Given the description of an element on the screen output the (x, y) to click on. 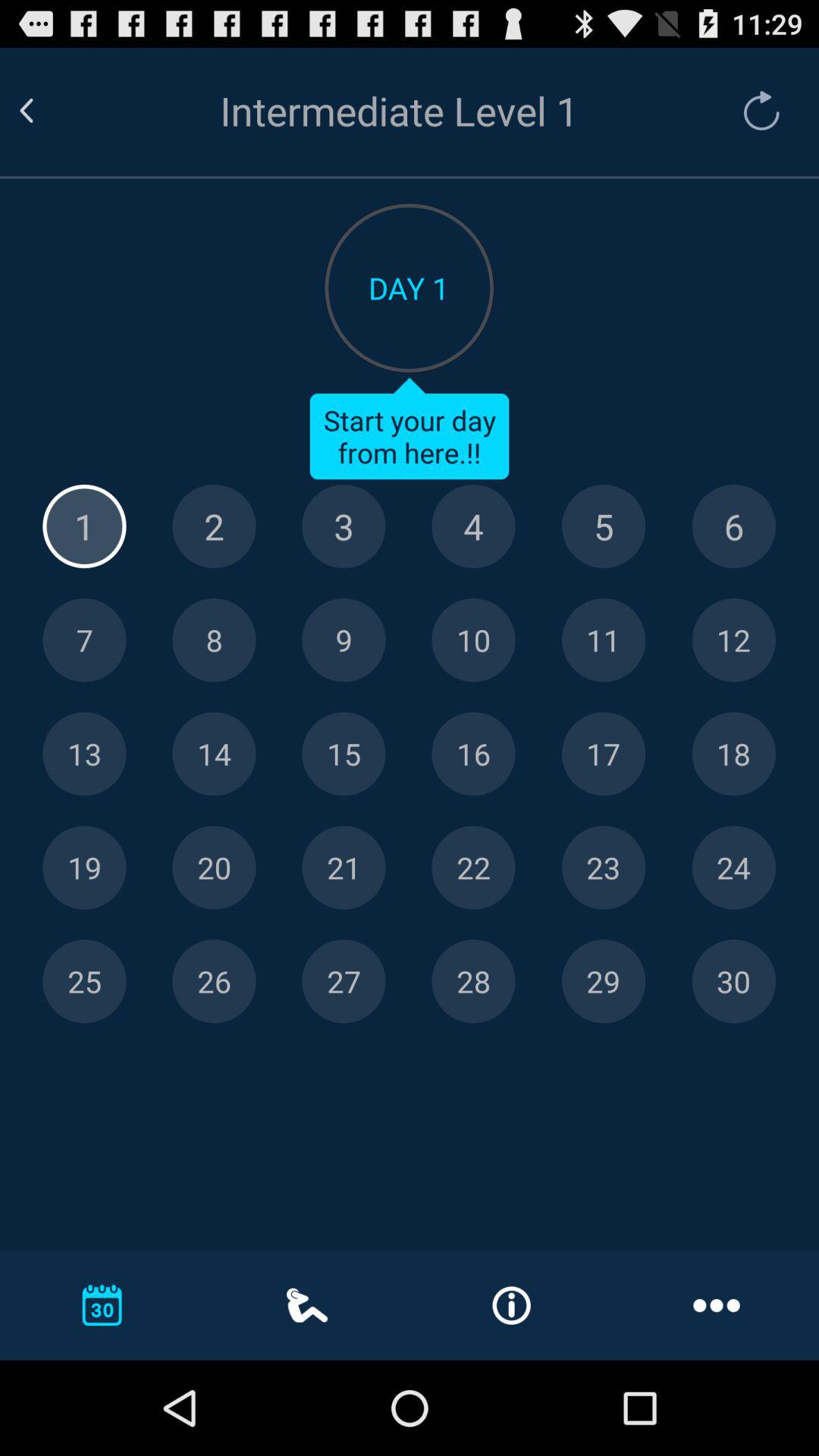
go to day 12 (733, 639)
